Given the description of an element on the screen output the (x, y) to click on. 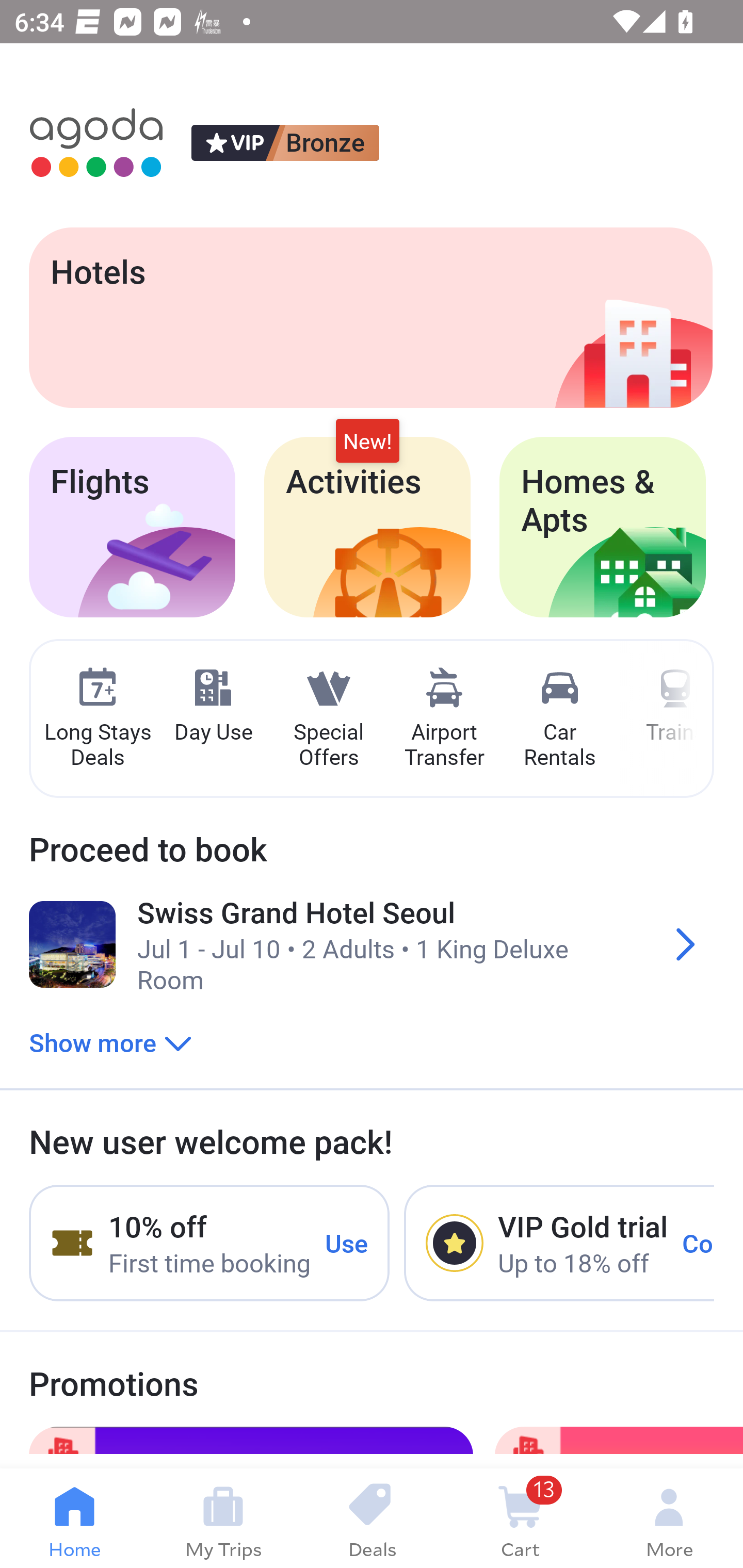
Hotels (370, 317)
New! (367, 441)
Flights (131, 527)
Activities (367, 527)
Homes & Apts (602, 527)
Day Use (213, 706)
Long Stays Deals (97, 718)
Special Offers (328, 718)
Airport Transfer (444, 718)
Car Rentals (559, 718)
Show more (110, 1041)
Use (346, 1242)
Home (74, 1518)
My Trips (222, 1518)
Deals (371, 1518)
13 Cart (519, 1518)
More (668, 1518)
